Given the description of an element on the screen output the (x, y) to click on. 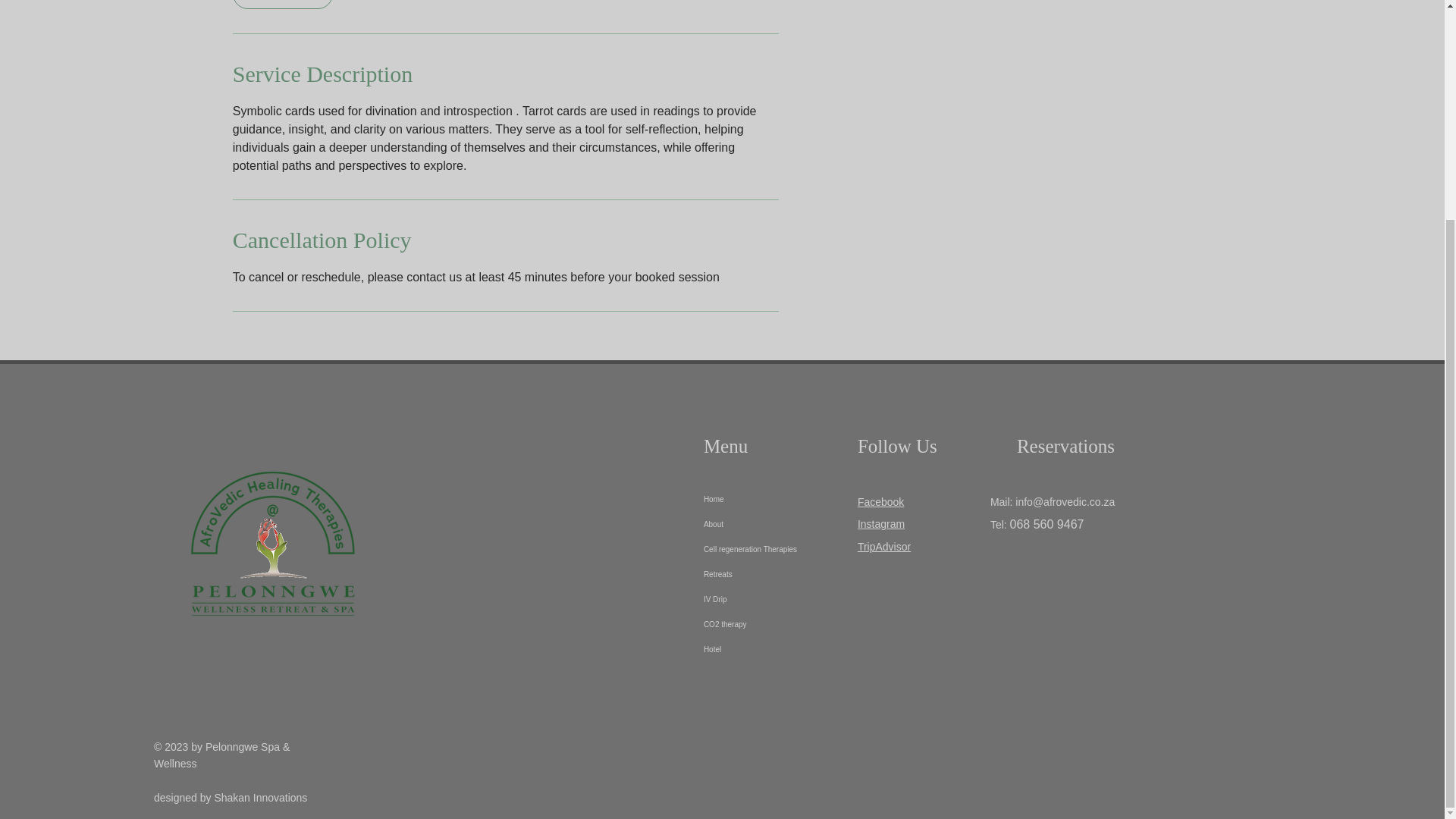
Home (765, 498)
CO2 therapy (765, 624)
Instagram (880, 523)
About (765, 524)
Hotel (765, 649)
logo-130.png (274, 543)
Cell regeneration Therapies (765, 549)
TripAdvisor (884, 546)
IV Drip (765, 599)
Facebook (880, 501)
Retreats (765, 574)
Book Now (282, 4)
